Given the description of an element on the screen output the (x, y) to click on. 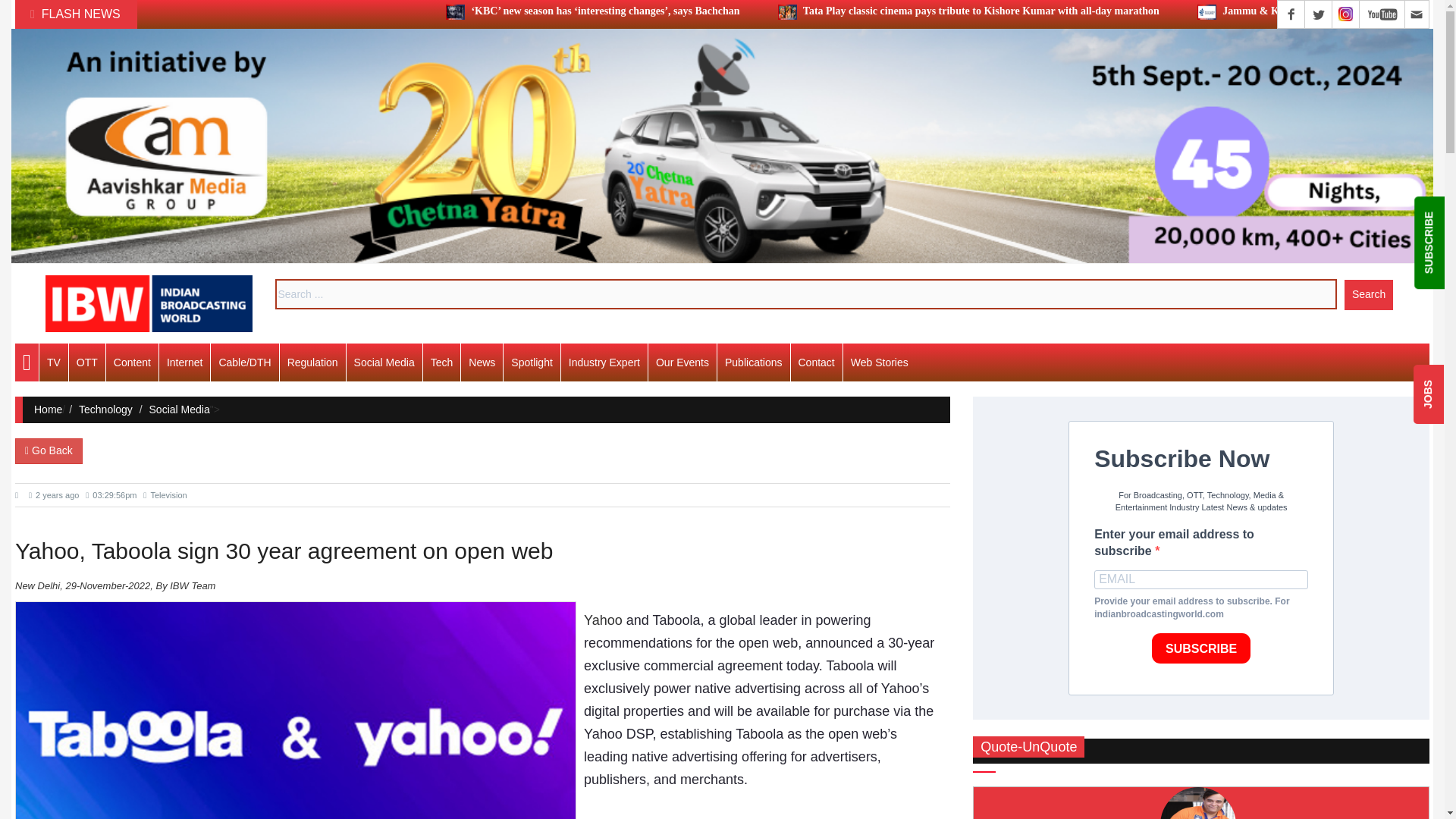
OTT (86, 361)
Content (131, 361)
Search (1368, 294)
Search (1368, 294)
Internet (183, 361)
Search (1368, 294)
